Given the description of an element on the screen output the (x, y) to click on. 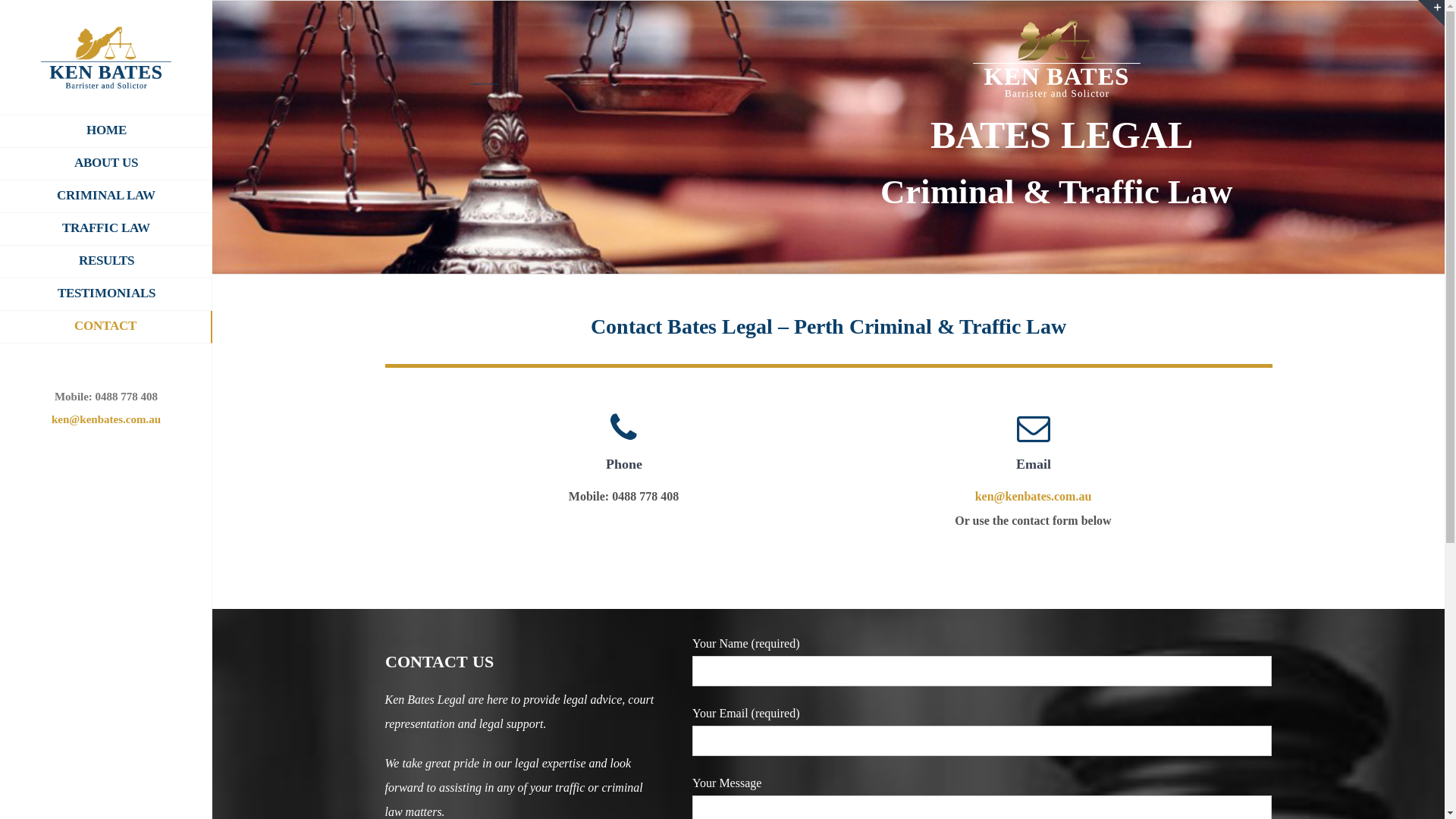
CRIMINAL LAW Element type: text (106, 196)
RESULTS Element type: text (106, 261)
CONTACT Element type: text (106, 326)
ken@kenbates.com.au Element type: text (1033, 495)
TESTIMONIALS Element type: text (106, 294)
ABOUT US Element type: text (106, 163)
TRAFFIC LAW Element type: text (106, 229)
HOME Element type: text (106, 130)
ken@kenbates.com.au Element type: text (105, 419)
